Given the description of an element on the screen output the (x, y) to click on. 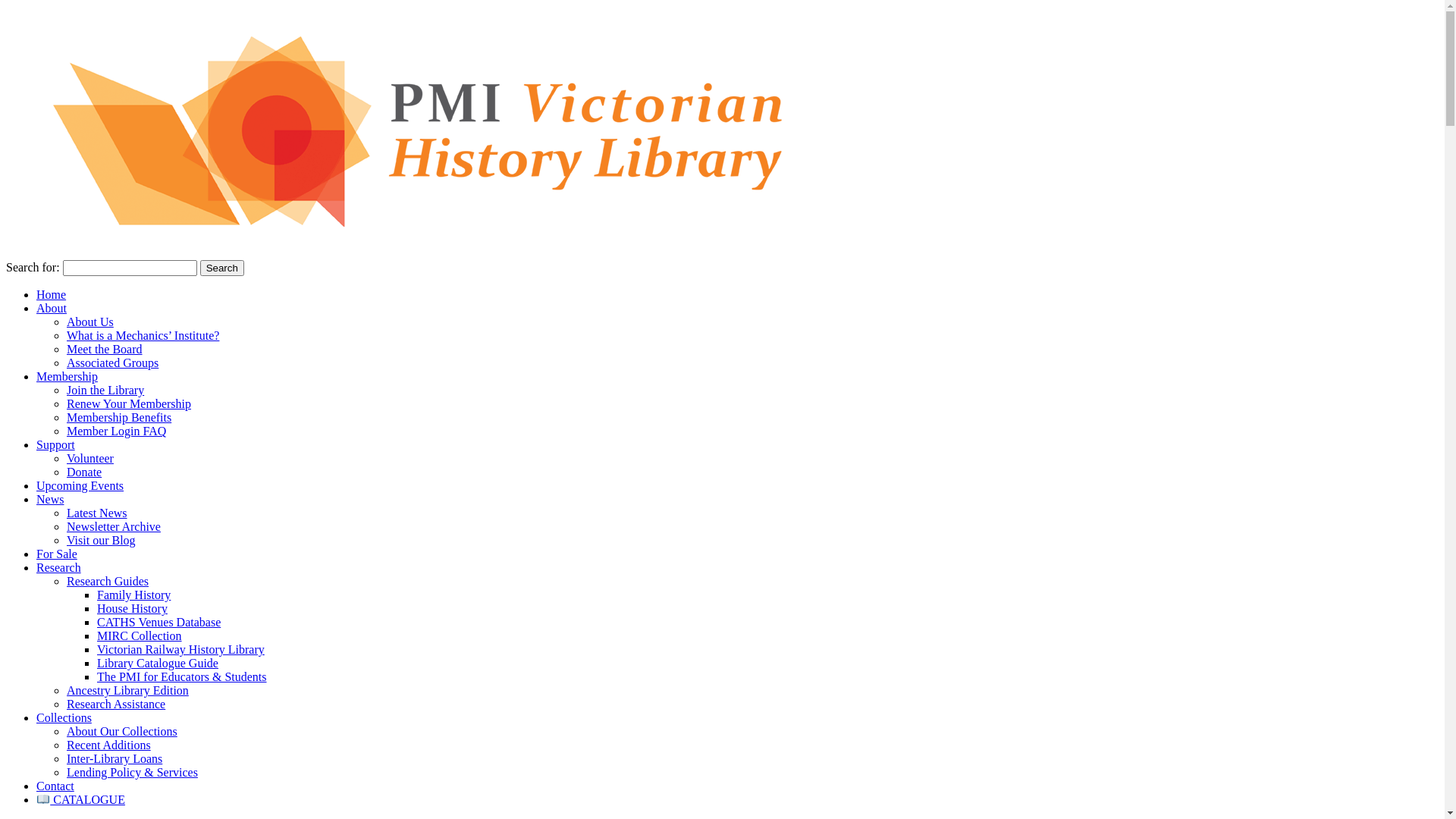
Volunteer Element type: text (89, 457)
CATHS Venues Database Element type: text (158, 621)
About Us Element type: text (89, 321)
Family History Element type: text (133, 594)
Contact Element type: text (55, 785)
News Element type: text (49, 498)
House History Element type: text (132, 608)
Renew Your Membership Element type: text (128, 403)
Upcoming Events Element type: text (79, 485)
Join the Library Element type: text (105, 389)
About Our Collections Element type: text (121, 730)
Lending Policy & Services Element type: text (131, 771)
Inter-Library Loans Element type: text (114, 758)
Support Element type: text (55, 444)
Home Element type: text (50, 294)
Recent Additions Element type: text (108, 744)
MIRC Collection Element type: text (139, 635)
Collections Element type: text (63, 717)
Donate Element type: text (83, 471)
Victorian Railway History Library Element type: text (180, 649)
Research Element type: text (58, 567)
Member Login FAQ Element type: text (116, 430)
PMI-Horizontal-2 Element type: hover (457, 131)
Membership Element type: text (66, 376)
Newsletter Archive Element type: text (113, 526)
Research Guides Element type: text (107, 580)
Membership Benefits Element type: text (118, 417)
CATALOGUE Element type: text (80, 799)
Associated Groups Element type: text (112, 362)
Visit our Blog Element type: text (100, 539)
About Element type: text (51, 307)
Research Assistance Element type: text (115, 703)
Ancestry Library Edition Element type: text (127, 690)
Latest News Element type: text (96, 512)
Search Element type: text (222, 268)
Library Catalogue Guide Element type: text (157, 662)
For Sale Element type: text (56, 553)
Meet the Board Element type: text (104, 348)
The PMI for Educators & Students Element type: text (181, 676)
